Given the description of an element on the screen output the (x, y) to click on. 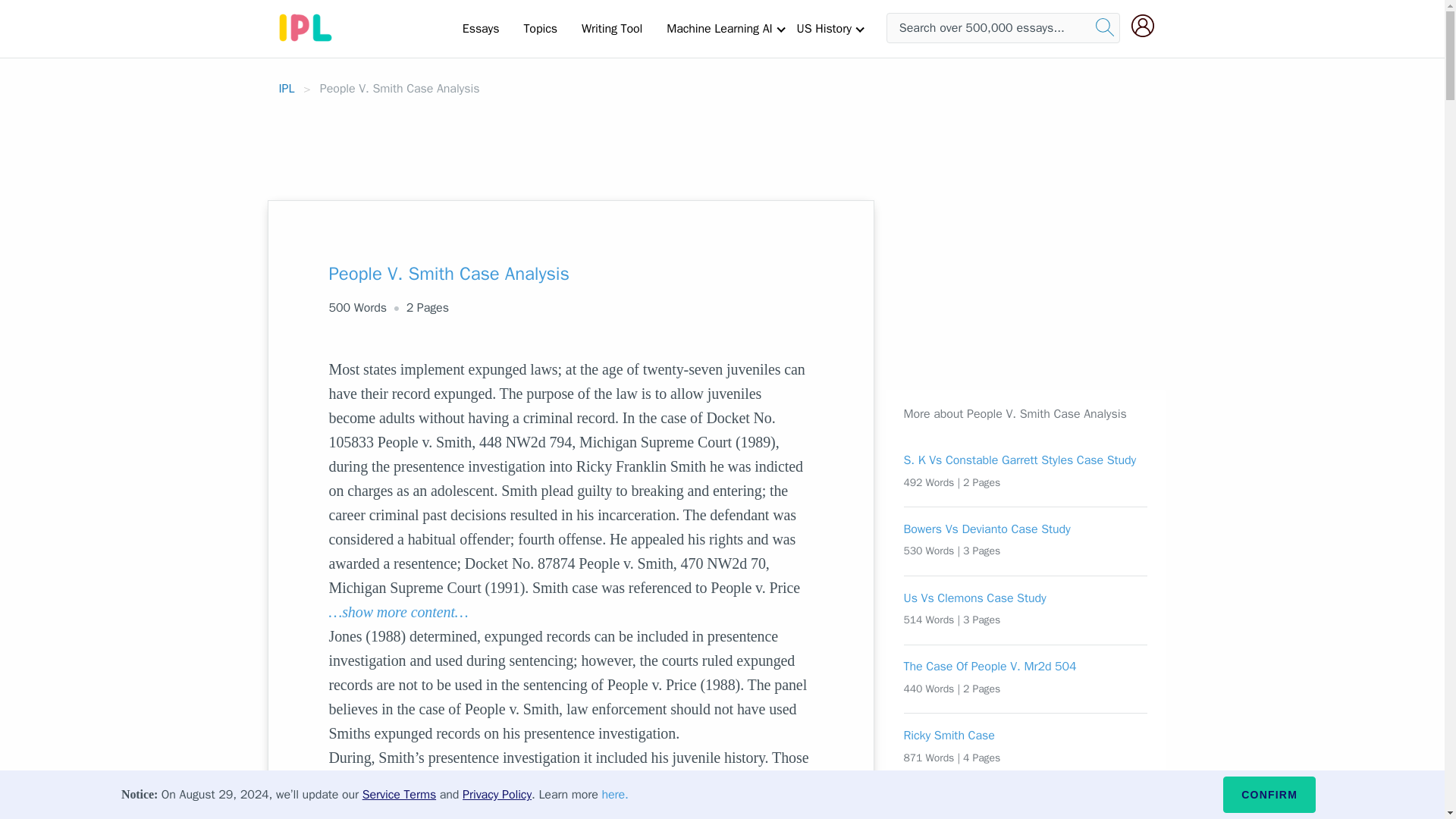
Machine Learning AI (718, 28)
Essays (480, 28)
US History (823, 28)
IPL (287, 88)
Topics (540, 28)
Writing Tool (611, 28)
